Given the description of an element on the screen output the (x, y) to click on. 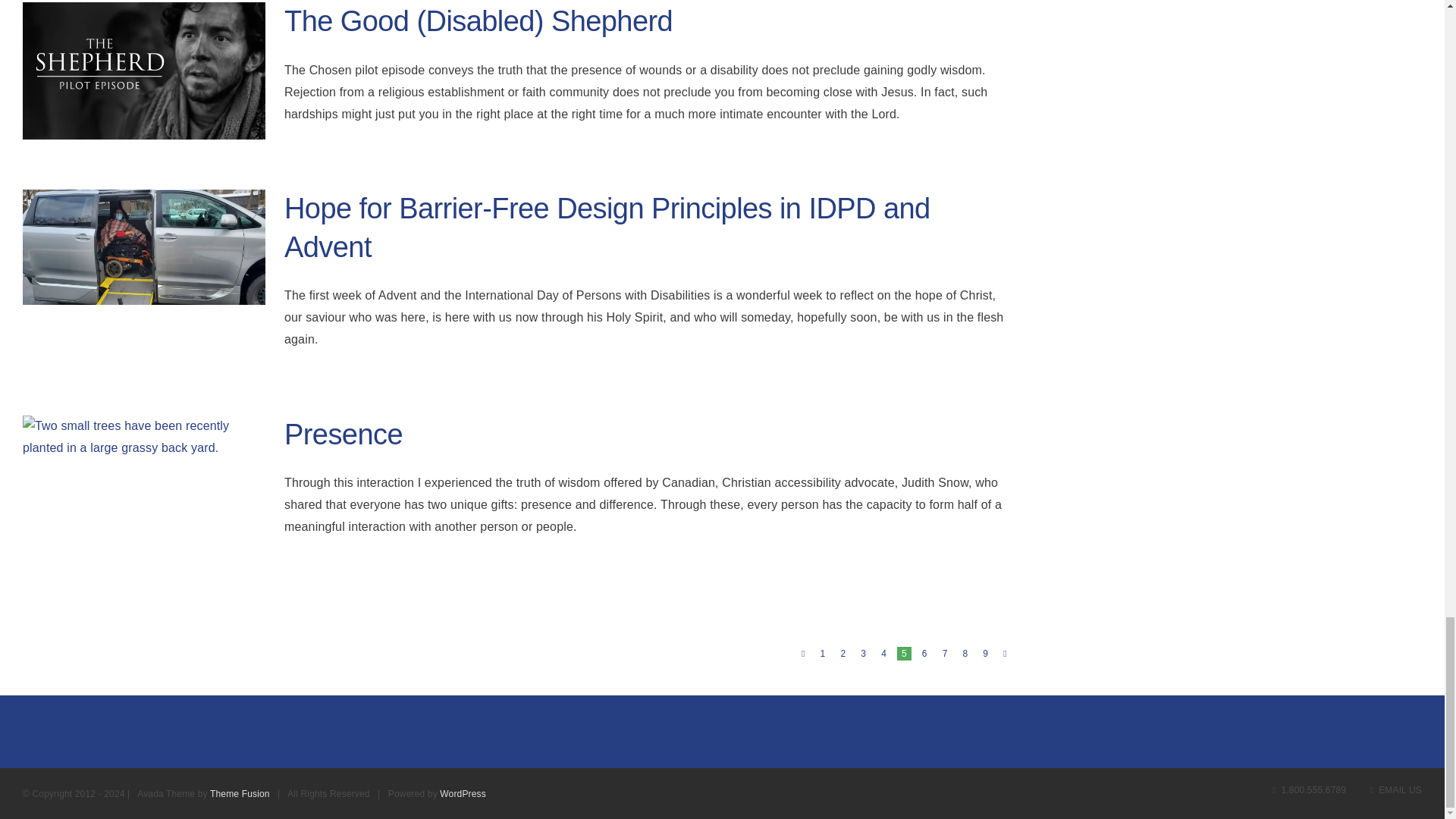
3 (863, 653)
1 (822, 653)
4 (883, 653)
Presence (343, 434)
WordPress (462, 793)
Hope for Barrier-Free Design Principles in IDPD and Advent (606, 227)
  EMAIL US (1396, 789)
2 (842, 653)
9 (985, 653)
7 (944, 653)
6 (924, 653)
Theme Fusion (239, 793)
8 (965, 653)
